Given the description of an element on the screen output the (x, y) to click on. 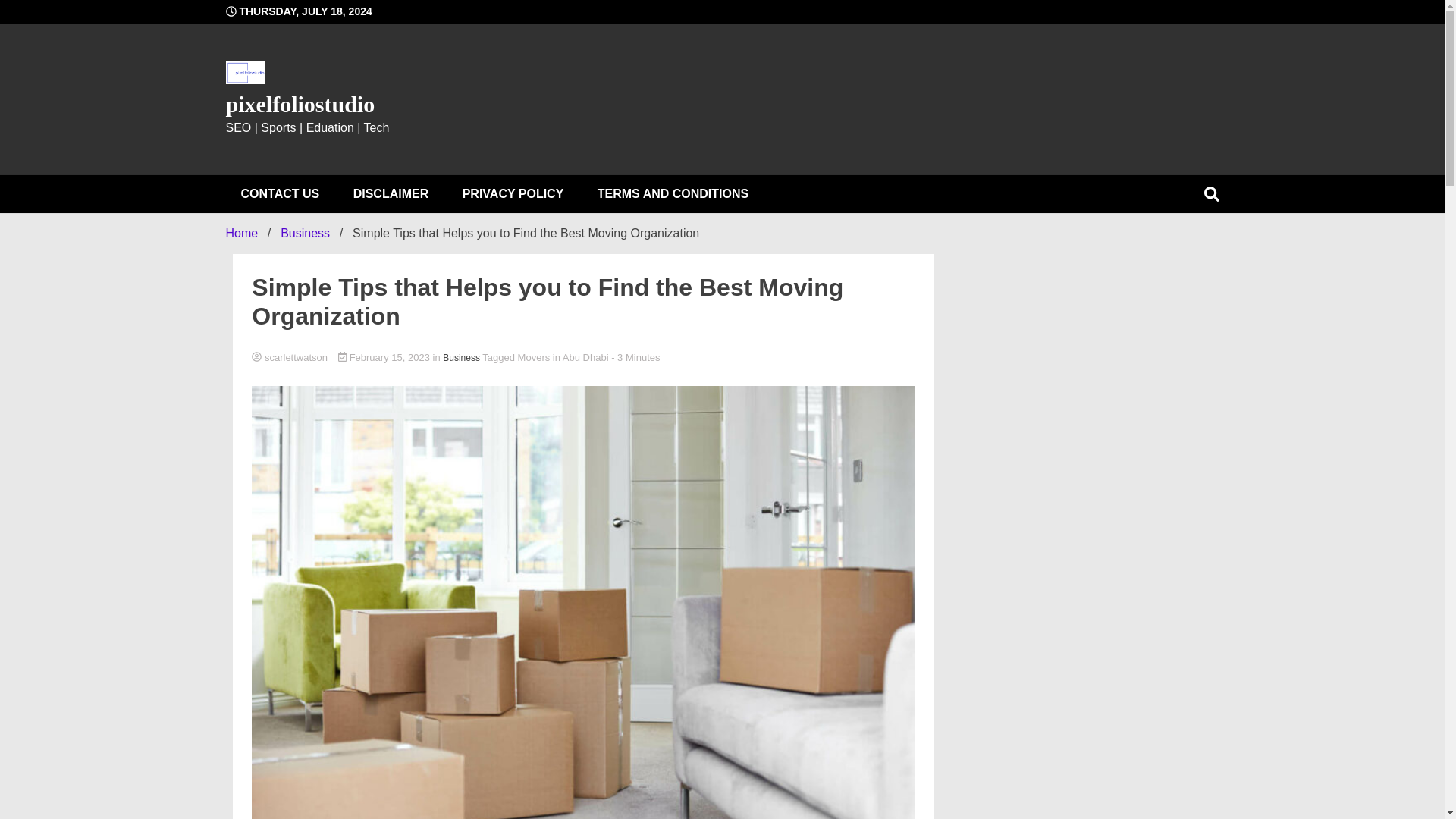
Business (305, 232)
CONTACT US (279, 193)
Estimated Reading Time of Article (635, 357)
Home (242, 232)
Movers in Abu Dhabi (563, 357)
February 15, 2023 (384, 357)
pixelfoliostudio (300, 104)
PRIVACY POLICY (512, 193)
DISCLAIMER (390, 193)
Business (461, 357)
TERMS AND CONDITIONS (672, 193)
scarlettwatson (582, 358)
